Given the description of an element on the screen output the (x, y) to click on. 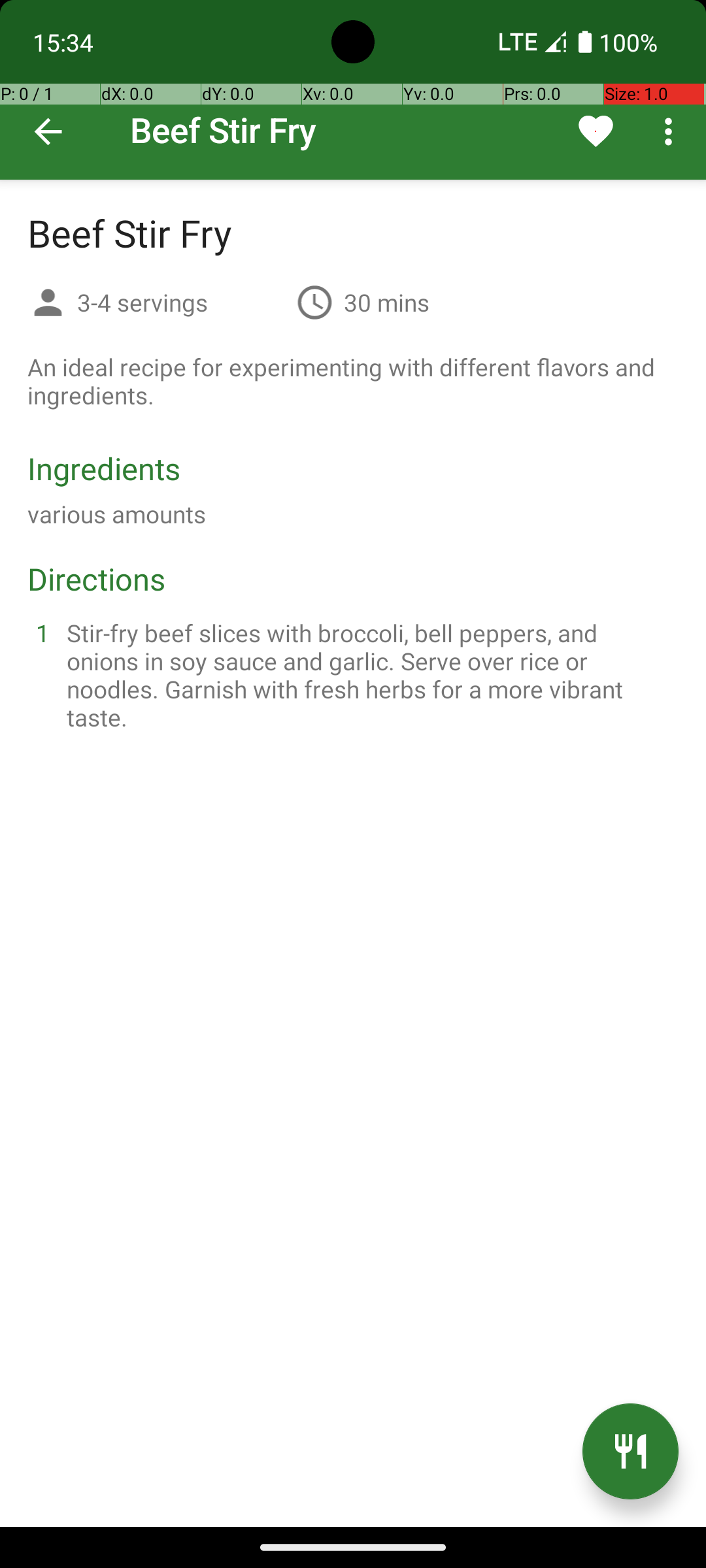
Stir-fry beef slices with broccoli, bell peppers, and onions in soy sauce and garlic. Serve over rice or noodles. Garnish with fresh herbs for a more vibrant taste. Element type: android.widget.TextView (368, 674)
